Given the description of an element on the screen output the (x, y) to click on. 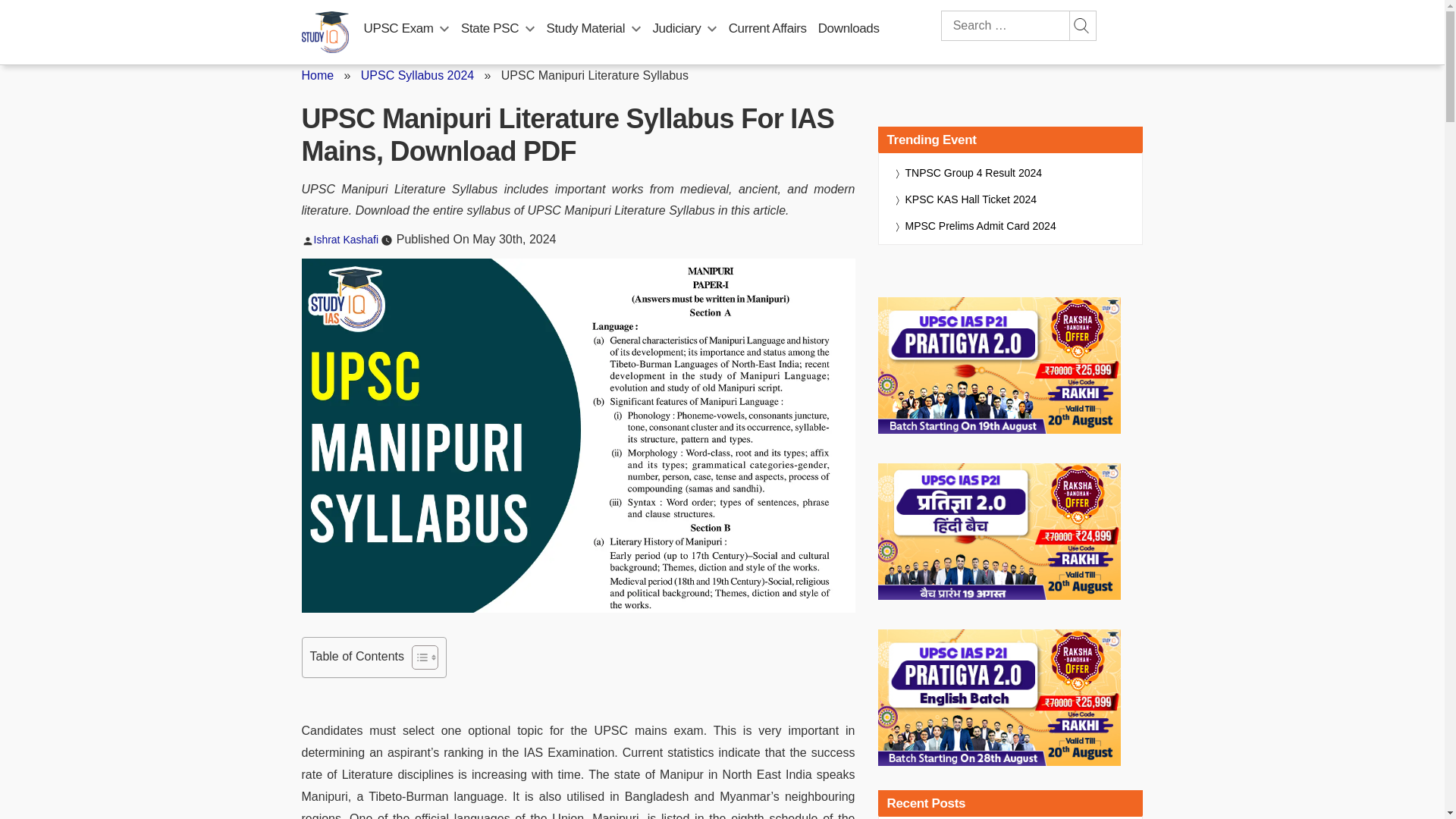
UPSC Exam (398, 28)
Search (1080, 25)
Search (1080, 25)
